Given the description of an element on the screen output the (x, y) to click on. 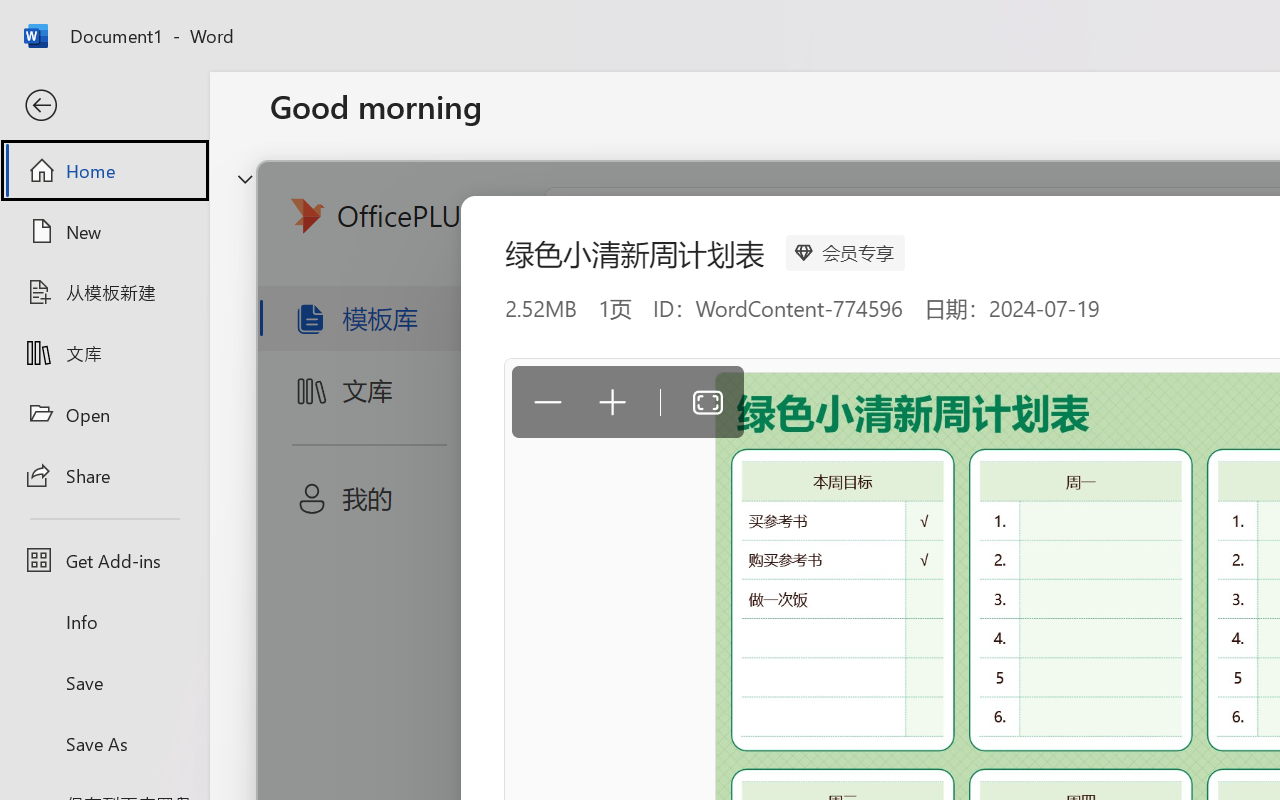
Blank document (405, 332)
Hide or show region (245, 178)
Info (104, 621)
Back (104, 106)
